Given the description of an element on the screen output the (x, y) to click on. 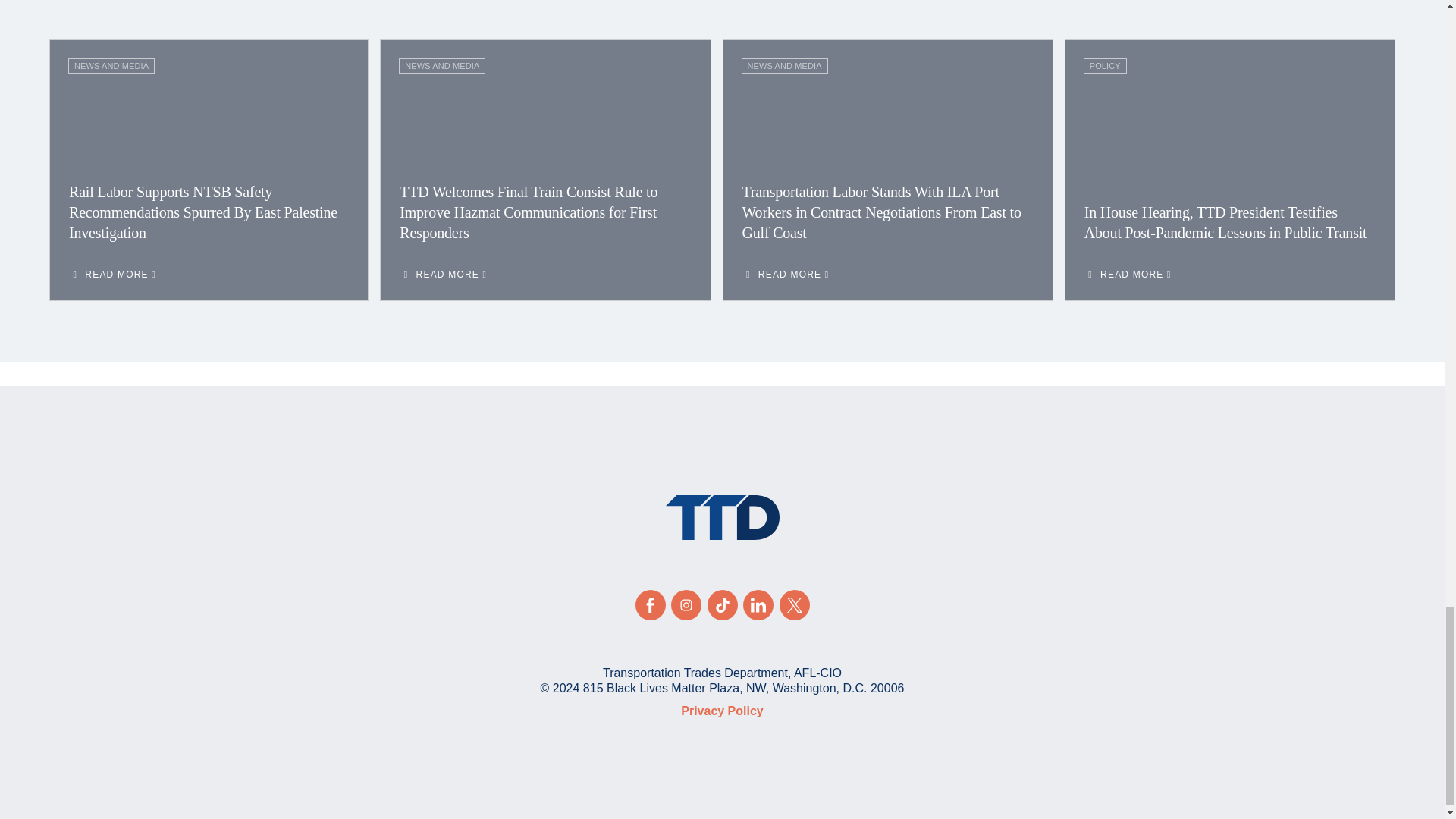
NEWS AND MEDIA (441, 65)
NEWS AND MEDIA (111, 65)
Transportation Trades Department, AFL-CIO Logo (721, 517)
